Given the description of an element on the screen output the (x, y) to click on. 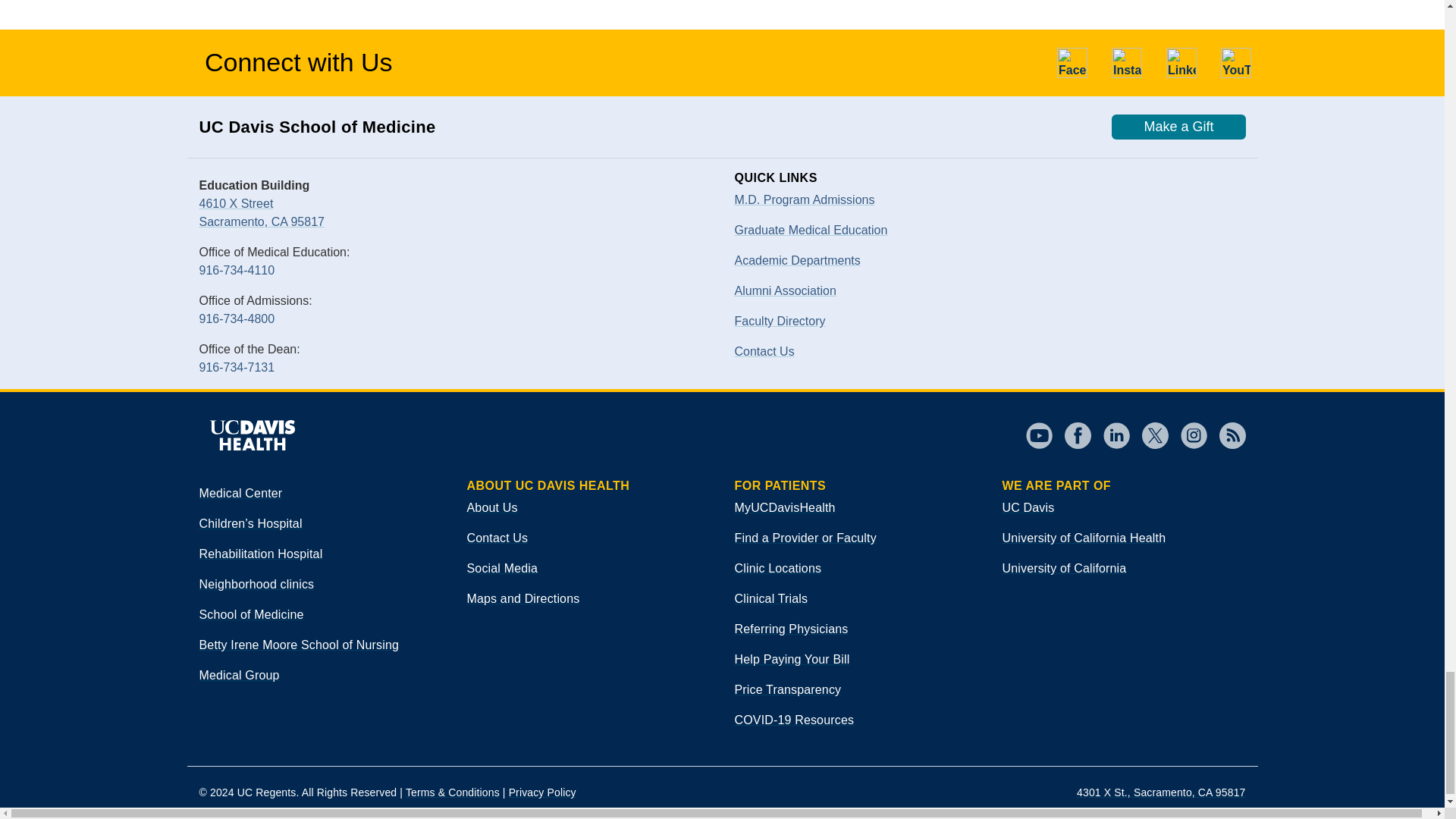
Make a Gift (1178, 126)
Follow us on Instagram (1126, 62)
Follow us on LinkedIn (1181, 62)
M.D. Program Admissions (804, 199)
Like us on Facebook (1072, 62)
Subscribe to UC Davis Health on YouTube (1235, 62)
